Given the description of an element on the screen output the (x, y) to click on. 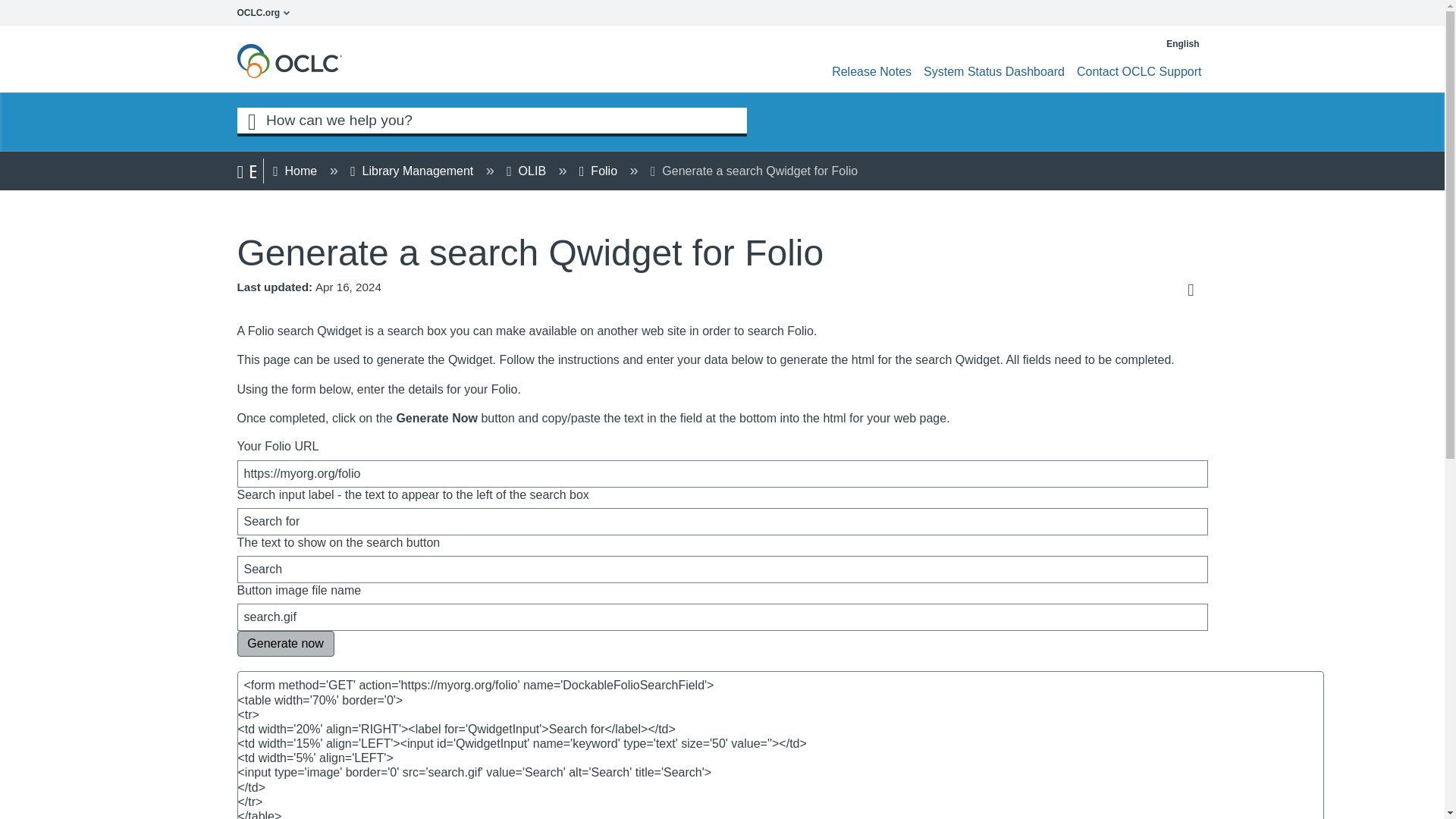
Folio (599, 170)
Click here to generate the html for your page (284, 643)
OCLC.org Home (266, 12)
OCLC.org (266, 12)
System Status Dashboard (993, 71)
Search (721, 569)
English (1177, 43)
Search for (721, 521)
Release Notes (871, 71)
Search (250, 120)
Library Management (413, 170)
Contact OCLC Support (1139, 71)
Generate now (284, 643)
Home (296, 170)
OLIB (527, 170)
